Given the description of an element on the screen output the (x, y) to click on. 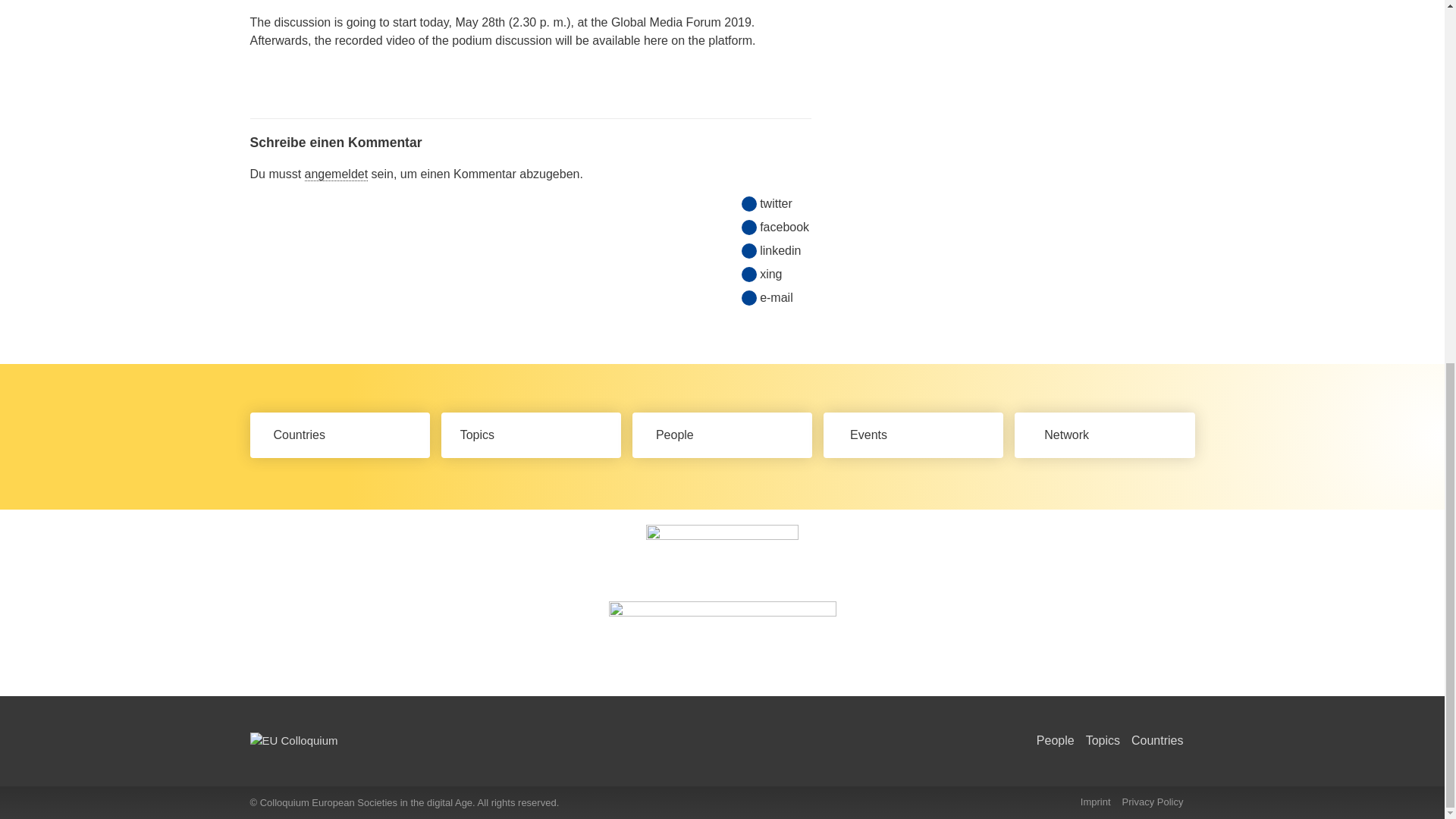
angemeldet (336, 173)
twitter (776, 203)
facebook (784, 227)
xing (770, 274)
e-mail (776, 298)
linkedin (780, 250)
